Given the description of an element on the screen output the (x, y) to click on. 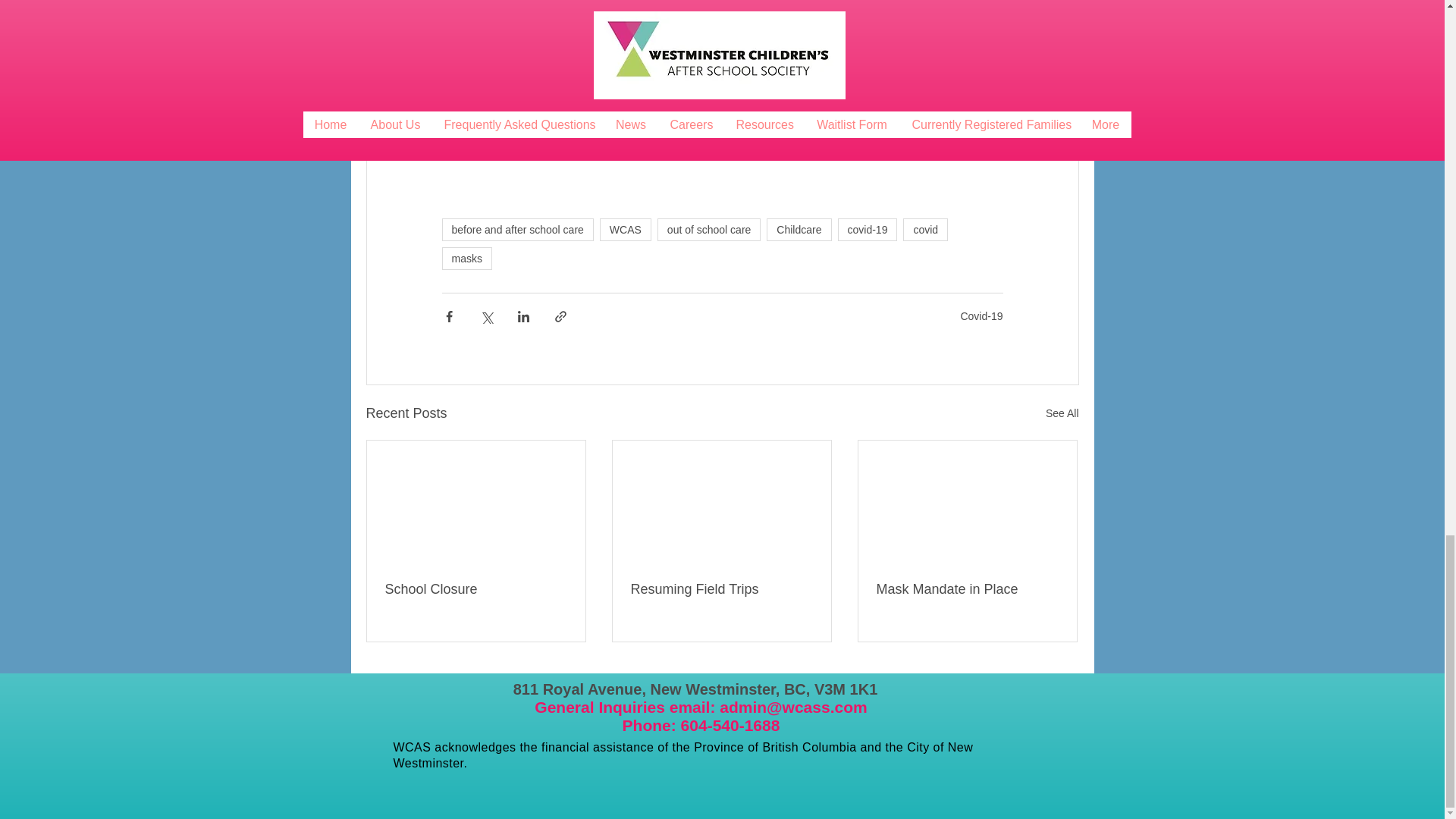
out of school care (709, 229)
WCAS (624, 229)
before and after school care (516, 229)
covid-19 (866, 229)
Childcare (799, 229)
masks (466, 258)
covid (924, 229)
